Given the description of an element on the screen output the (x, y) to click on. 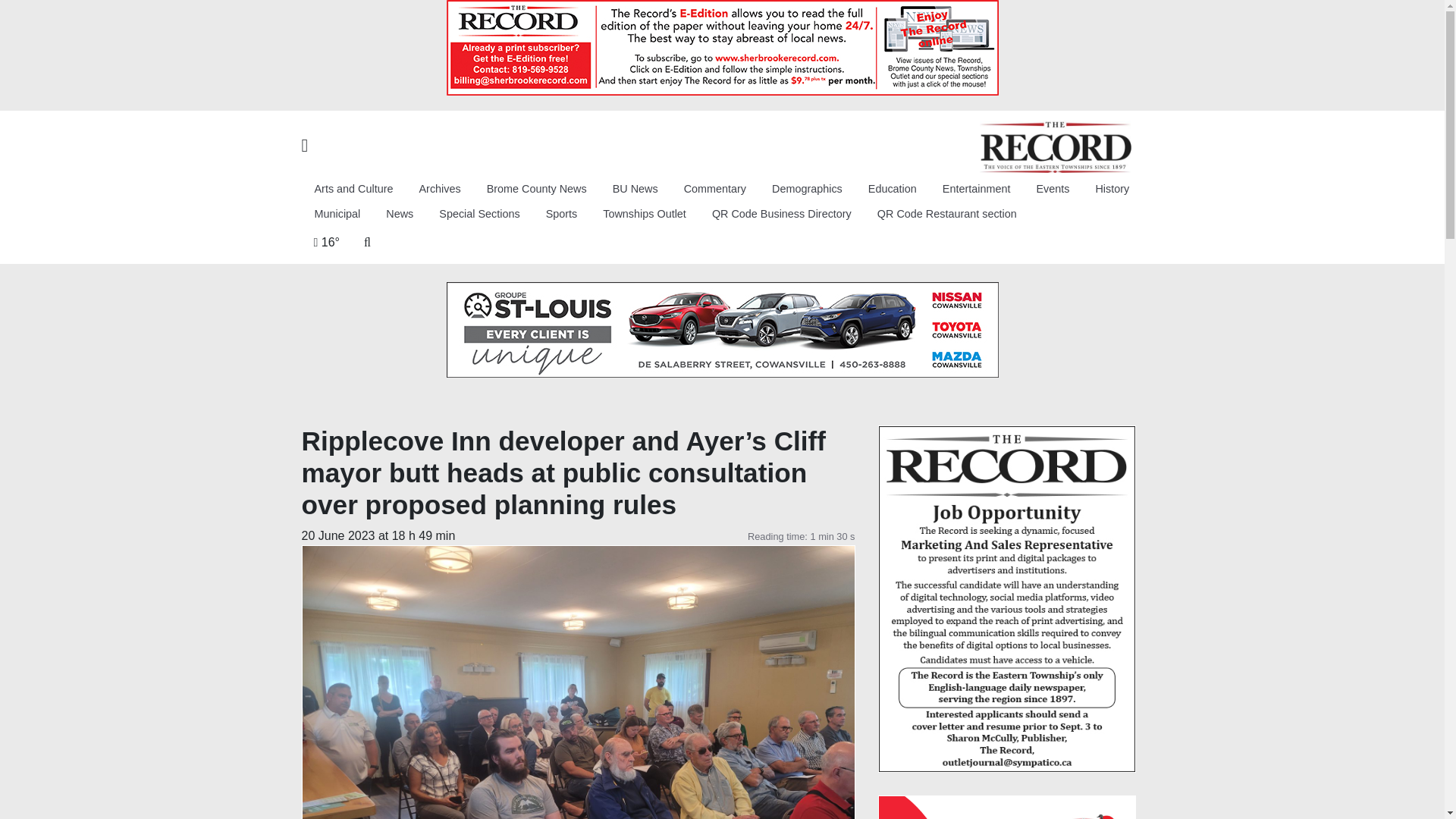
Events (1052, 188)
Demographics (807, 188)
Brome County News (536, 188)
Entertainment (976, 188)
Arts and Culture (353, 188)
Sports (561, 214)
Archives (439, 188)
Commentary (714, 188)
BU News (635, 188)
Archives (439, 188)
